Given the description of an element on the screen output the (x, y) to click on. 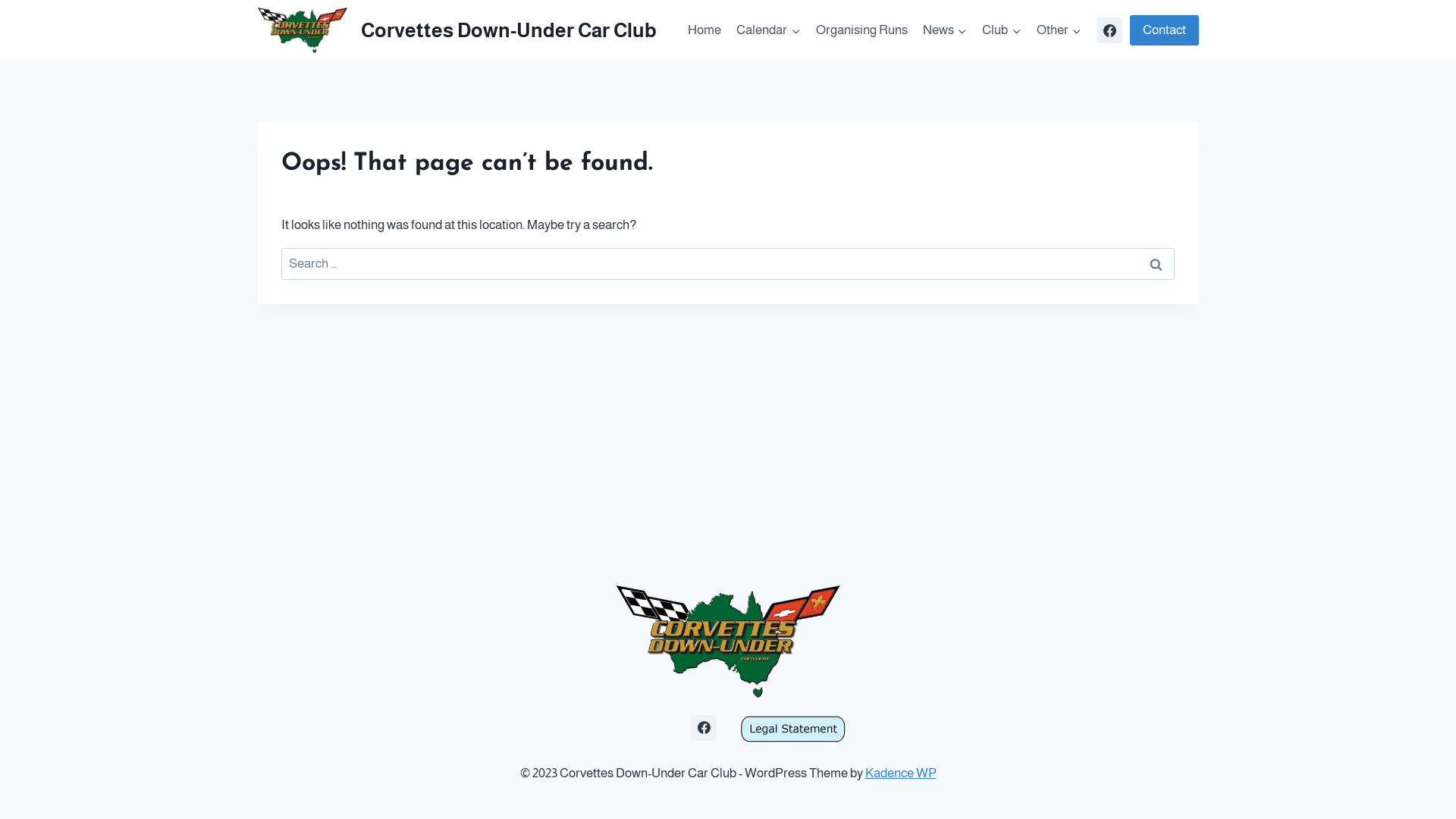
Search Element type: text (1155, 263)
Organising Runs Element type: text (861, 30)
Corvettes Down-Under Car Club Element type: text (456, 29)
Other Element type: text (1058, 30)
News Element type: text (944, 30)
Home Element type: text (704, 30)
Club Element type: text (1001, 30)
Contact Element type: text (1163, 30)
Kadence WP Element type: text (899, 772)
Calendar Element type: text (767, 30)
